Given the description of an element on the screen output the (x, y) to click on. 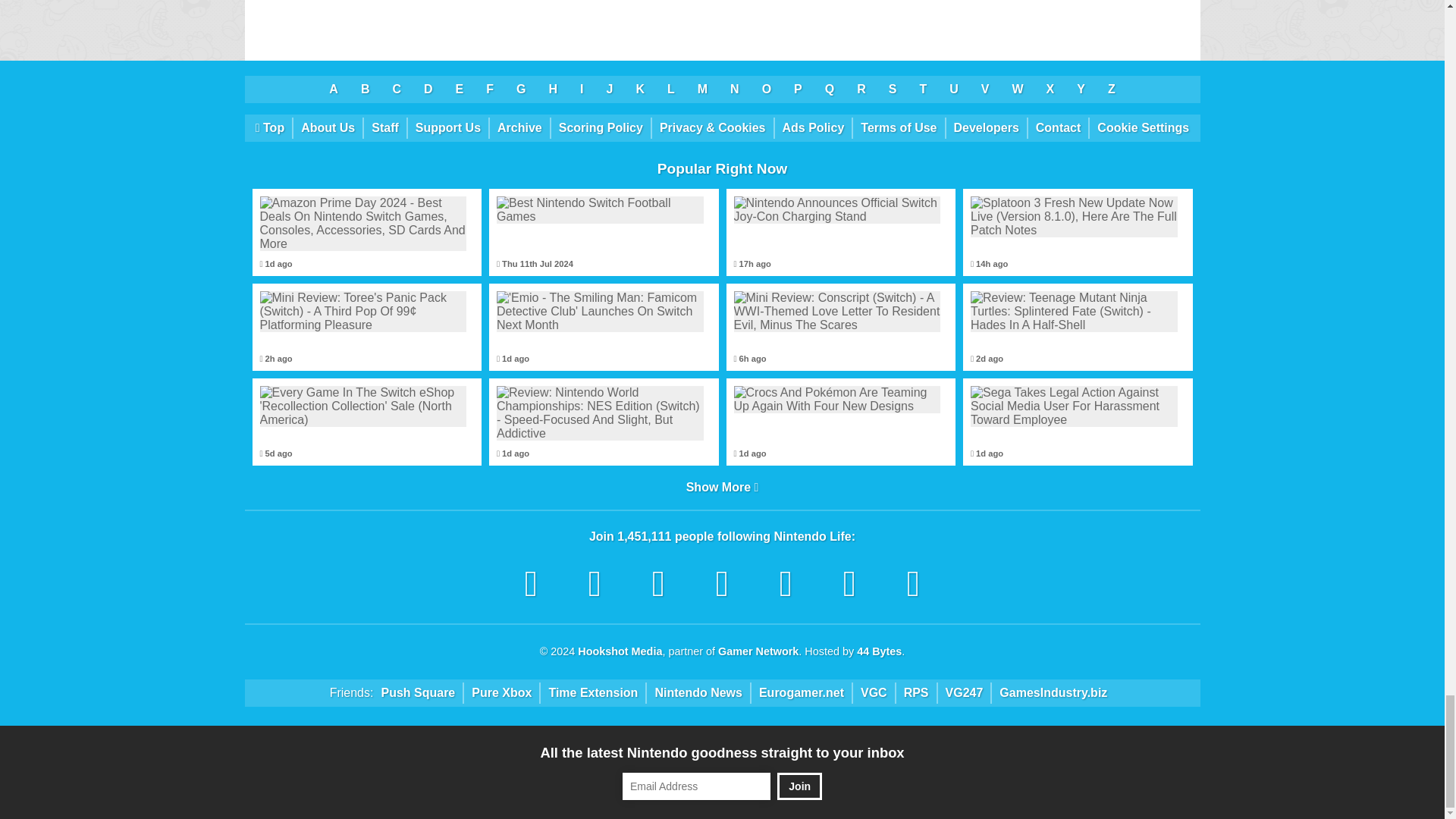
Join (799, 786)
